Given the description of an element on the screen output the (x, y) to click on. 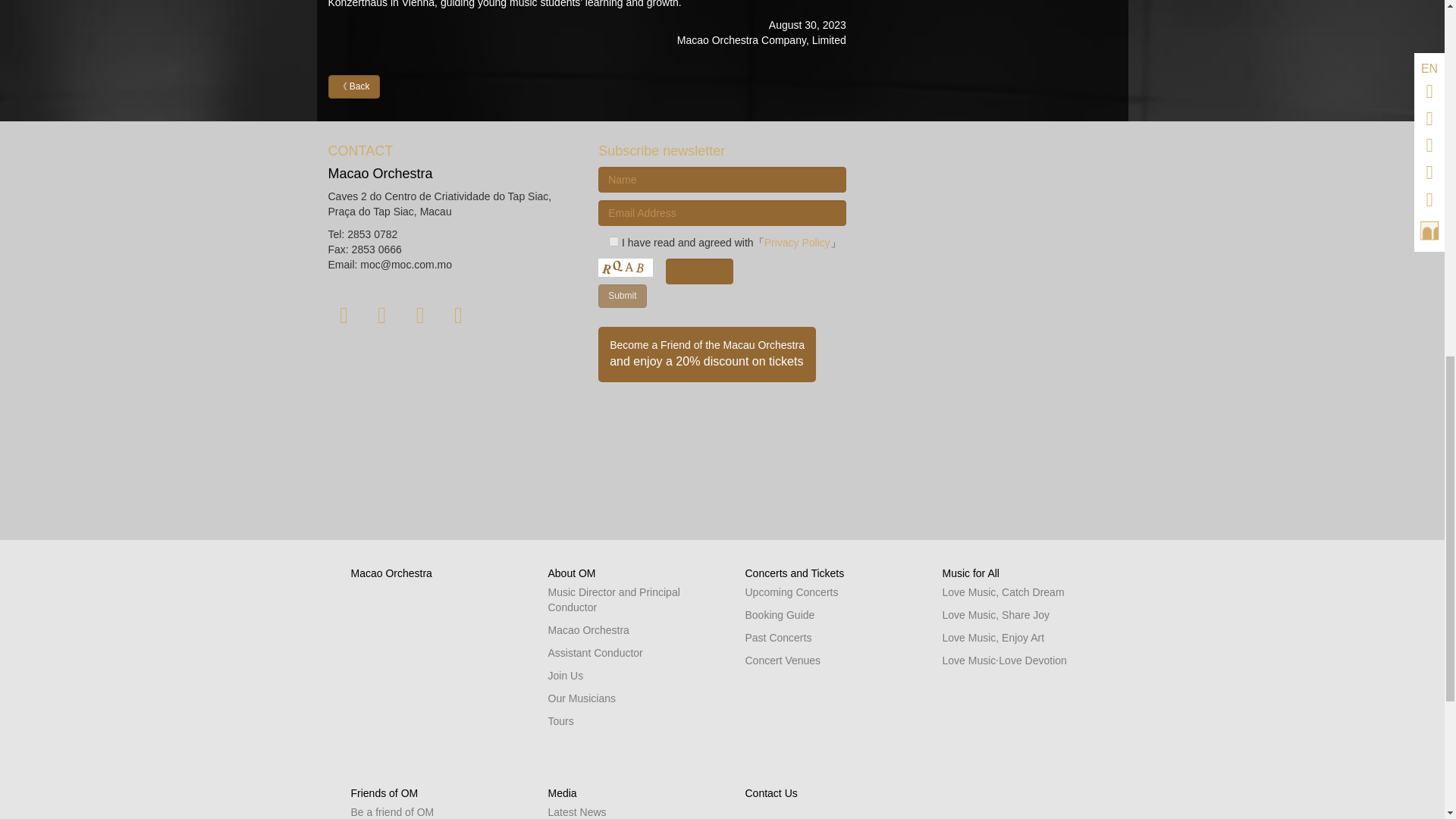
Submit (622, 295)
1 (613, 241)
